Given the description of an element on the screen output the (x, y) to click on. 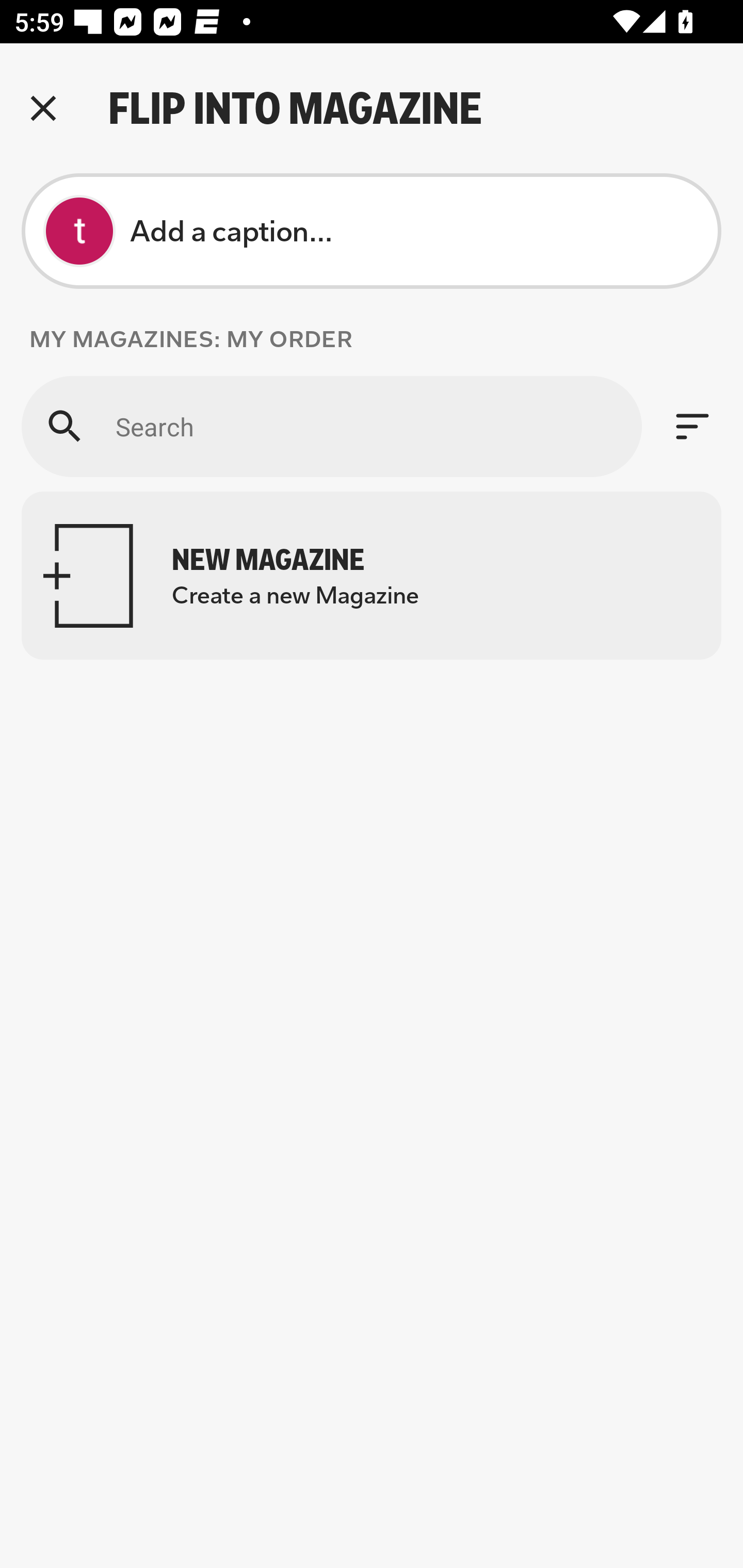
test appium Add a caption… (371, 231)
Search (331, 426)
NEW MAGAZINE Create a new Magazine (371, 575)
